Given the description of an element on the screen output the (x, y) to click on. 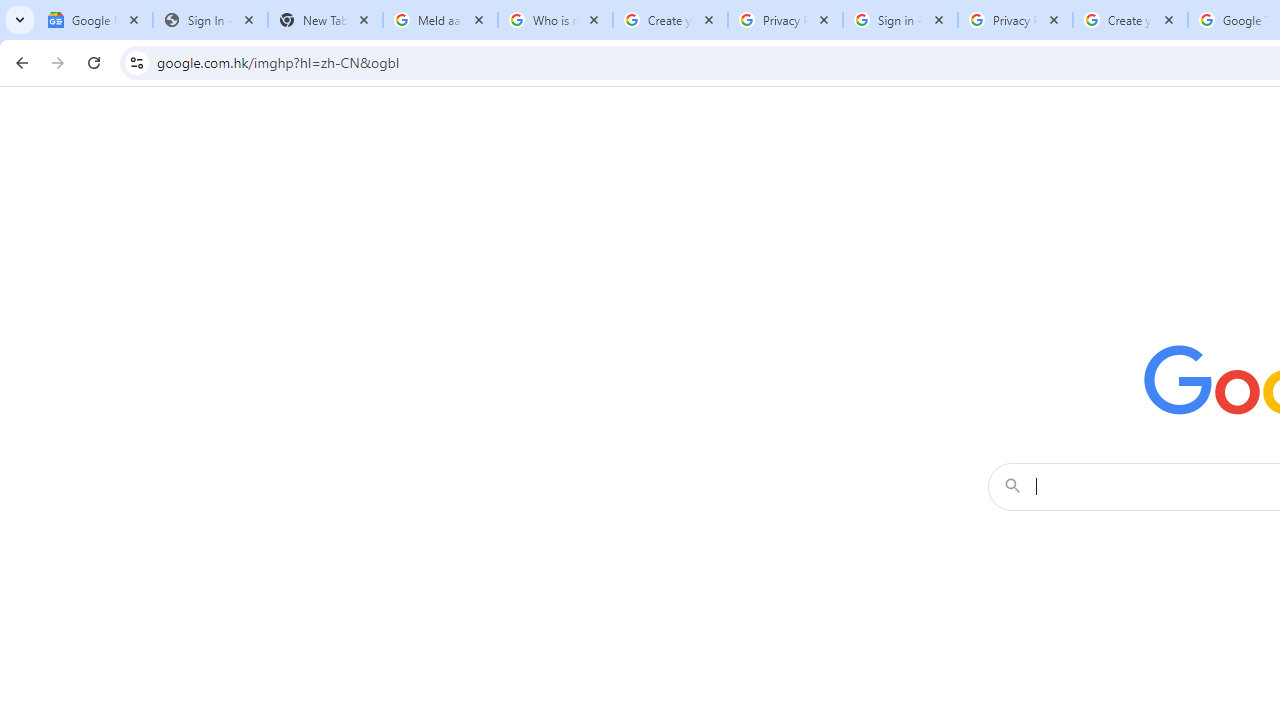
Create your Google Account (670, 20)
Google News (95, 20)
Sign In - USA TODAY (209, 20)
Create your Google Account (1129, 20)
New Tab (324, 20)
Who is my administrator? - Google Account Help (555, 20)
Sign in - Google Accounts (900, 20)
